Given the description of an element on the screen output the (x, y) to click on. 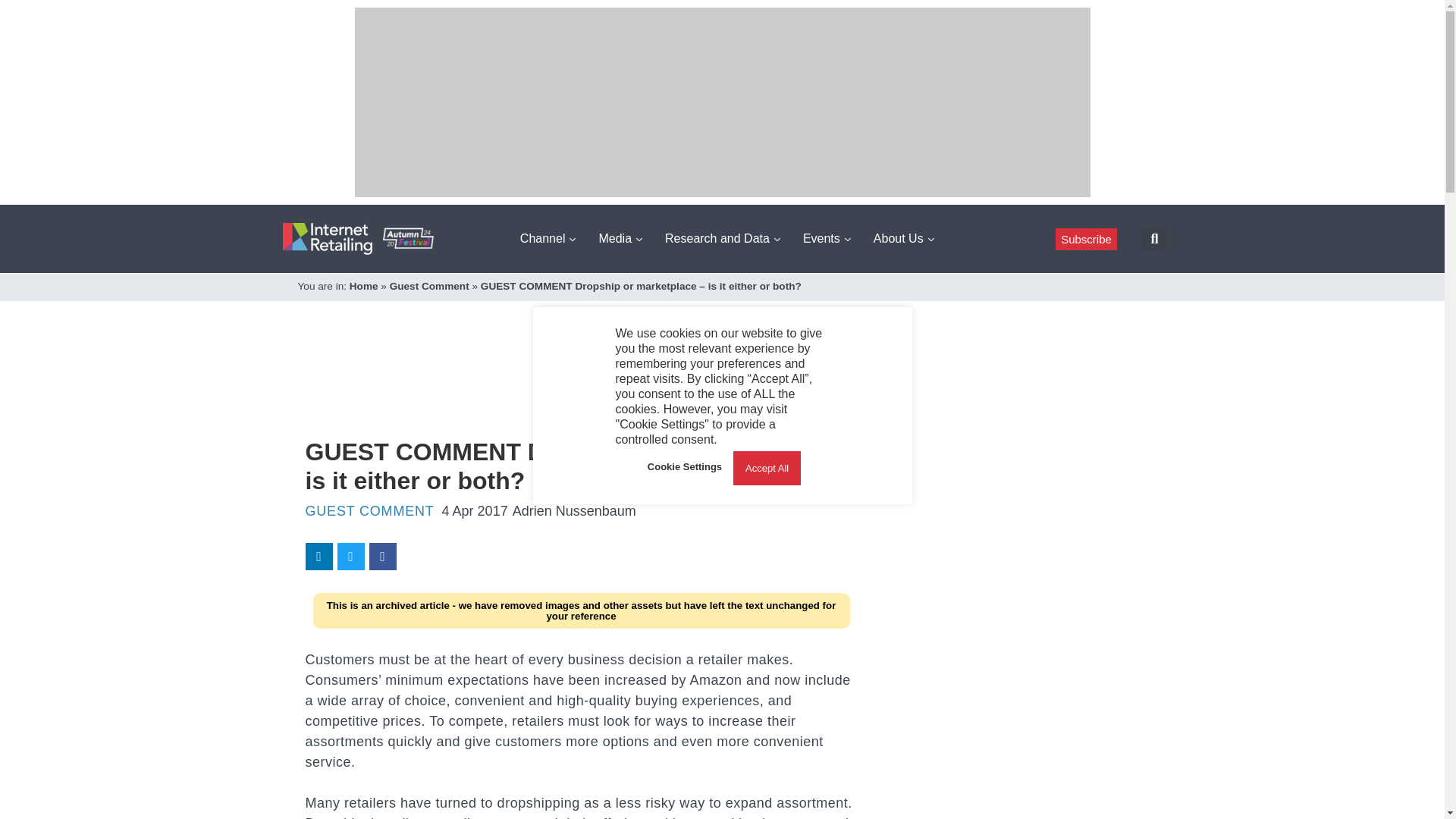
Research and Data (722, 238)
3rd party ad content (580, 387)
Channel (547, 238)
Media (620, 238)
